Given the description of an element on the screen output the (x, y) to click on. 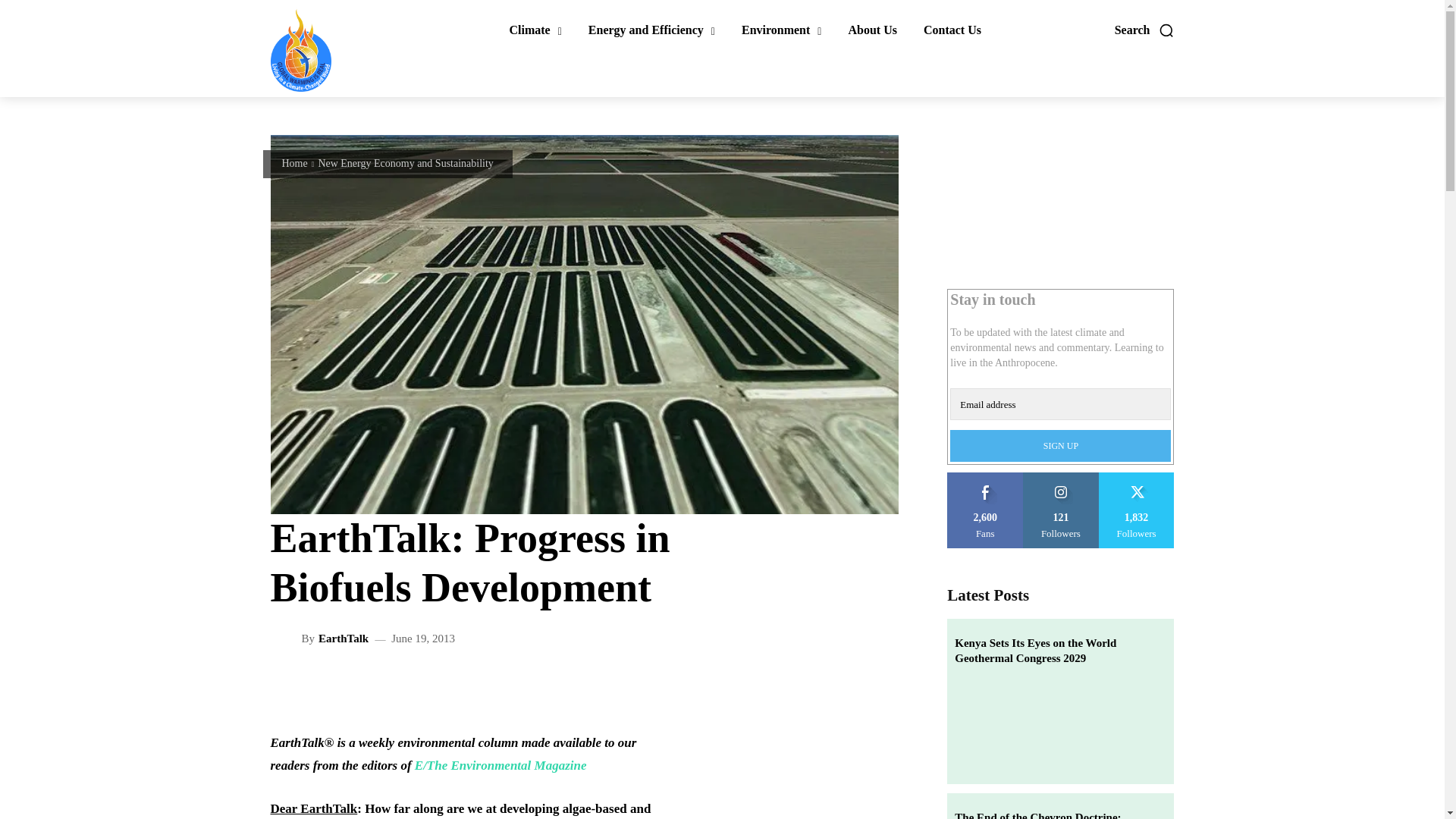
Search (1144, 30)
Climate (534, 30)
